Given the description of an element on the screen output the (x, y) to click on. 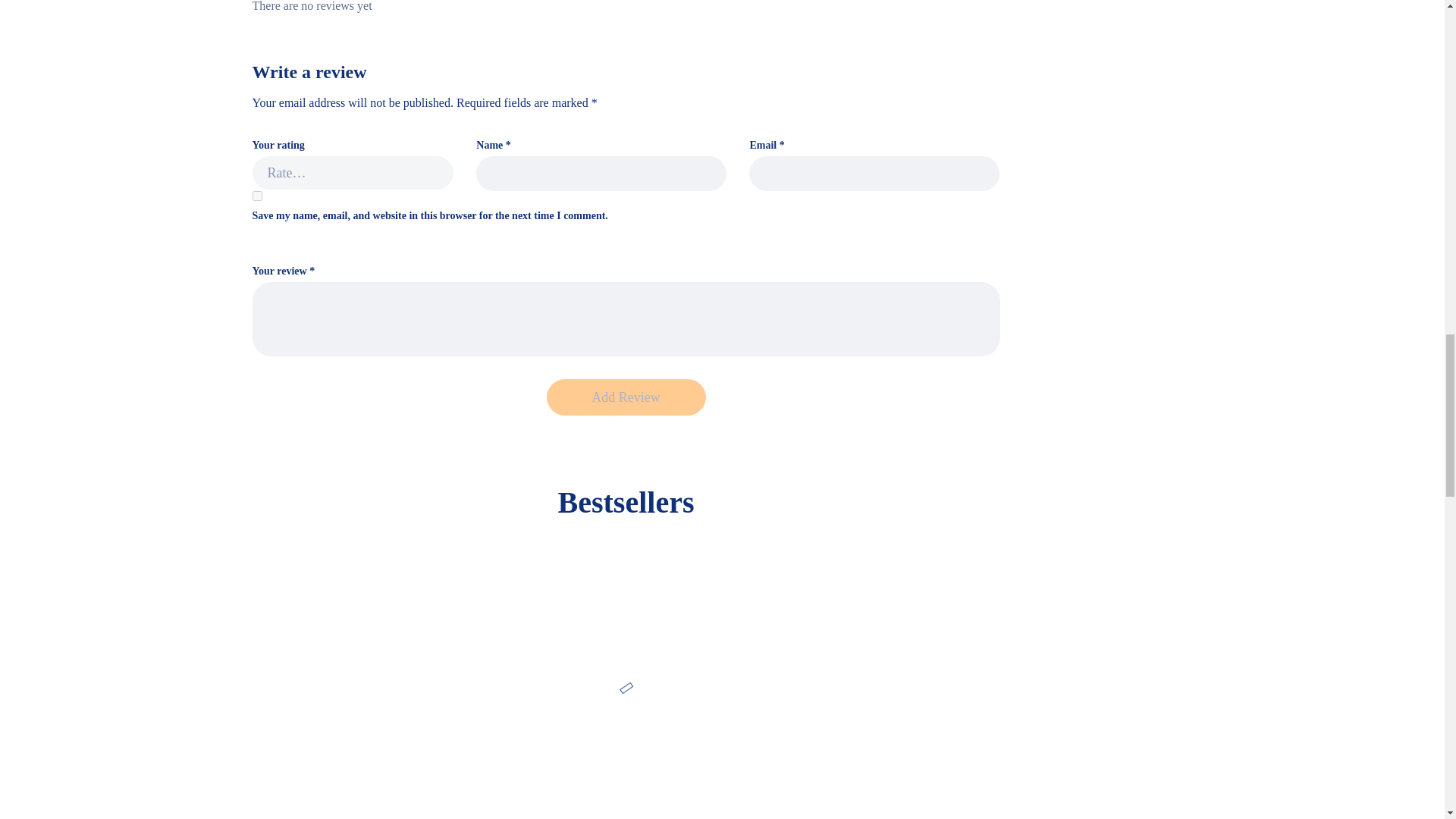
Add Review (625, 397)
yes (256, 195)
